Given the description of an element on the screen output the (x, y) to click on. 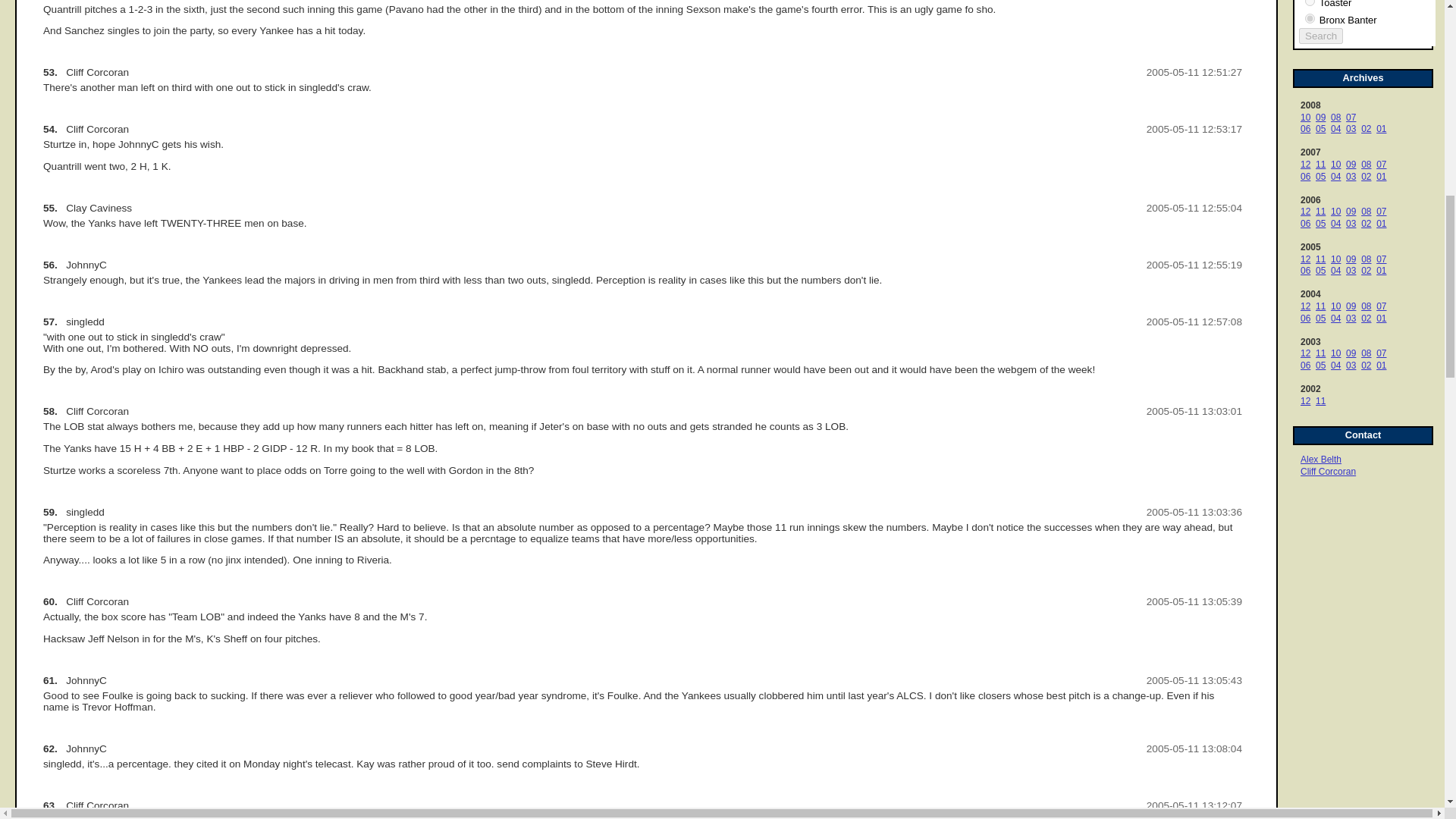
04 (1335, 128)
baseballtoaster.com (1309, 2)
06 (1305, 128)
08 (1335, 117)
Search (1320, 35)
07 (1350, 117)
Search (1320, 35)
10 (1305, 117)
bronxbanter.baseballtoaster.com (1309, 18)
09 (1320, 117)
05 (1320, 128)
